Given the description of an element on the screen output the (x, y) to click on. 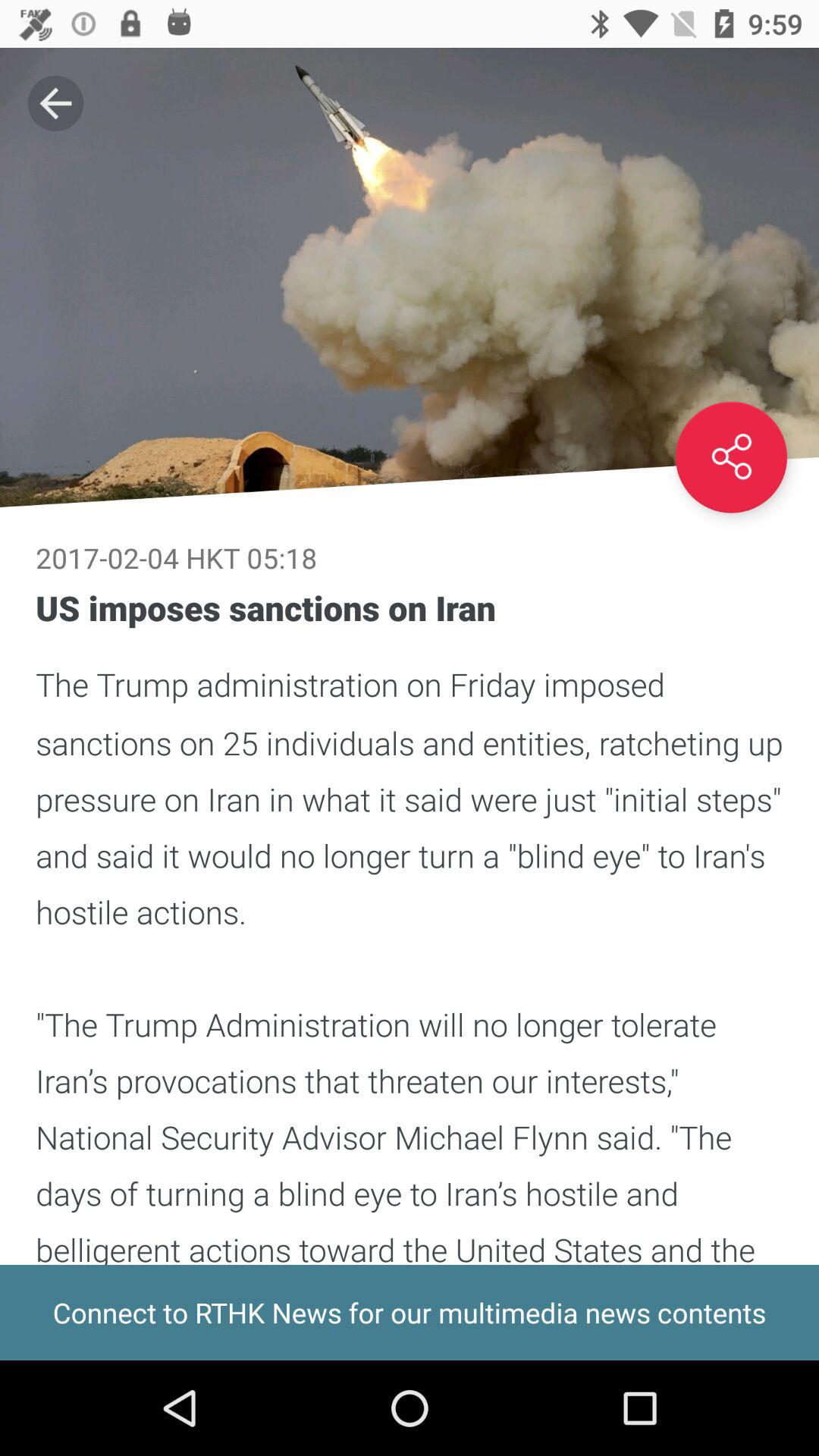
turn off app to the left of the news (55, 103)
